Given the description of an element on the screen output the (x, y) to click on. 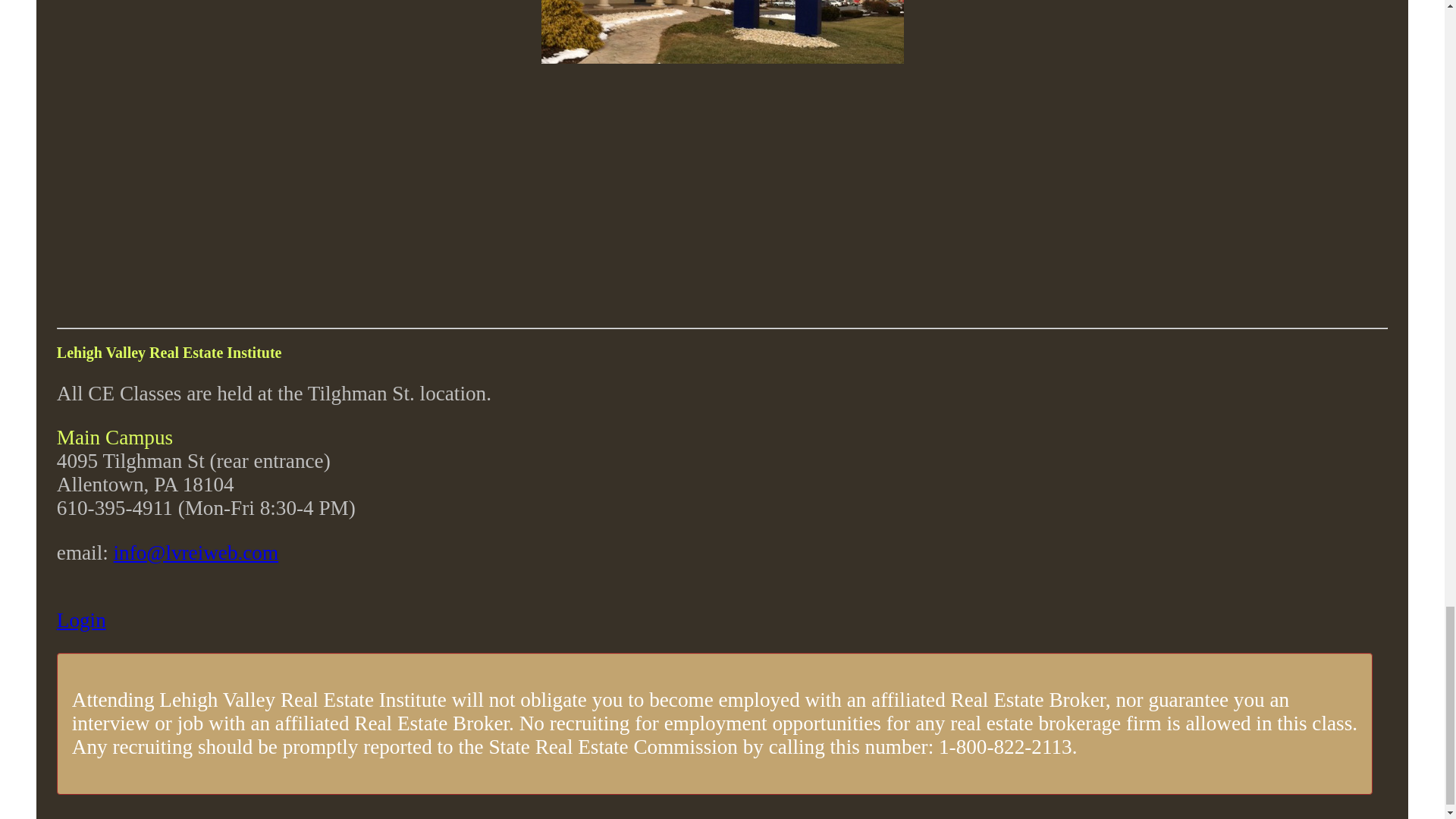
Login (81, 620)
